Given the description of an element on the screen output the (x, y) to click on. 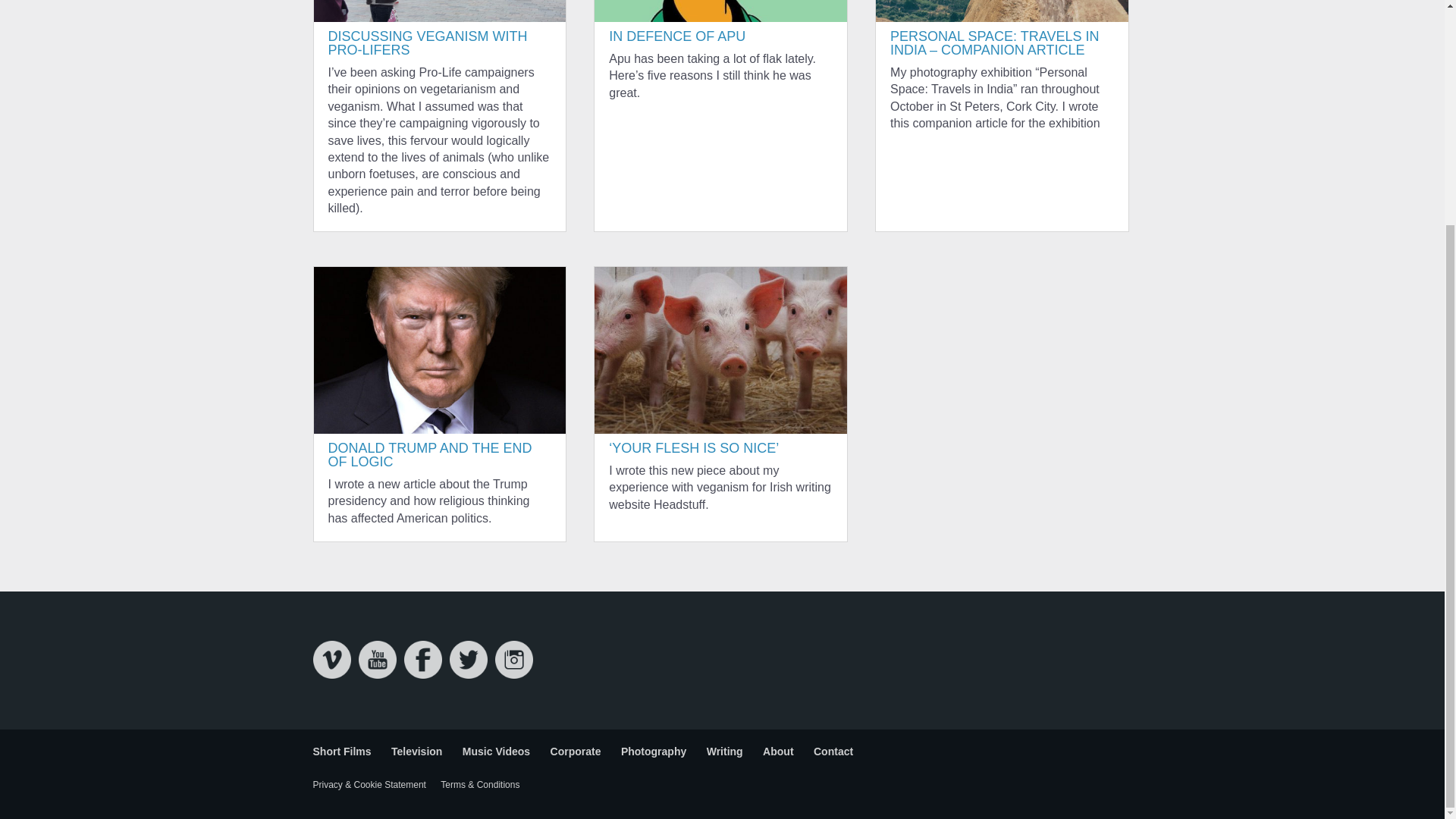
Corporate (575, 751)
Television (416, 751)
DISCUSSING VEGANISM WITH PRO-LIFERS (427, 42)
Short Films (342, 751)
IN DEFENCE OF APU (676, 36)
Music Videos (496, 751)
DONALD TRUMP AND THE END OF LOGIC (429, 454)
Photography (653, 751)
